Given the description of an element on the screen output the (x, y) to click on. 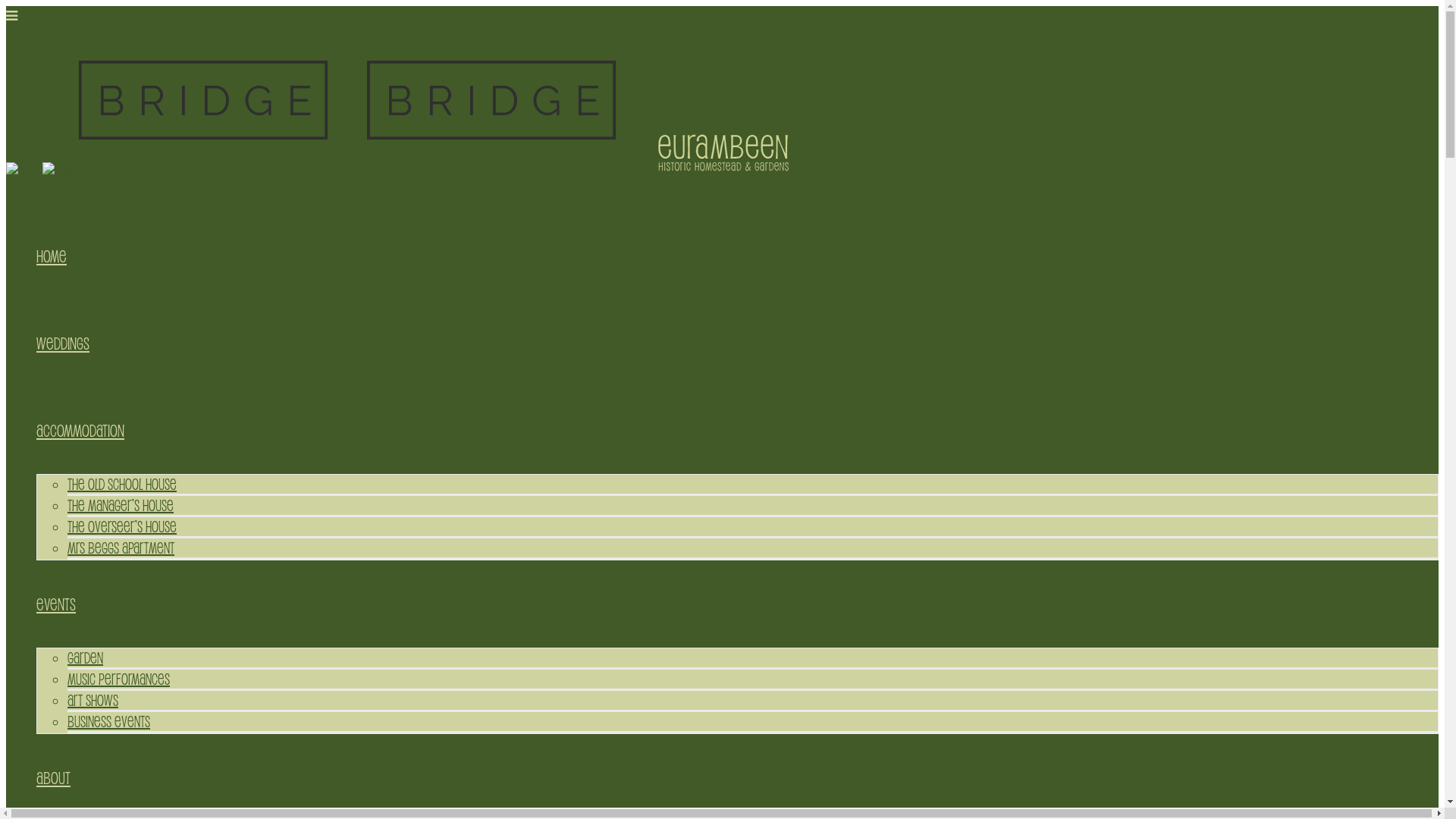
Accommodation Element type: text (80, 430)
Mrs Beggs Apartment Element type: text (120, 547)
Events Element type: text (55, 603)
The Old School House Element type: text (121, 483)
Home Element type: text (51, 255)
Business Events Element type: text (108, 721)
Weddings Element type: text (62, 342)
Music Performances Element type: text (118, 678)
Garden Element type: text (85, 657)
About Element type: text (53, 777)
Art Shows Element type: text (92, 699)
